Given the description of an element on the screen output the (x, y) to click on. 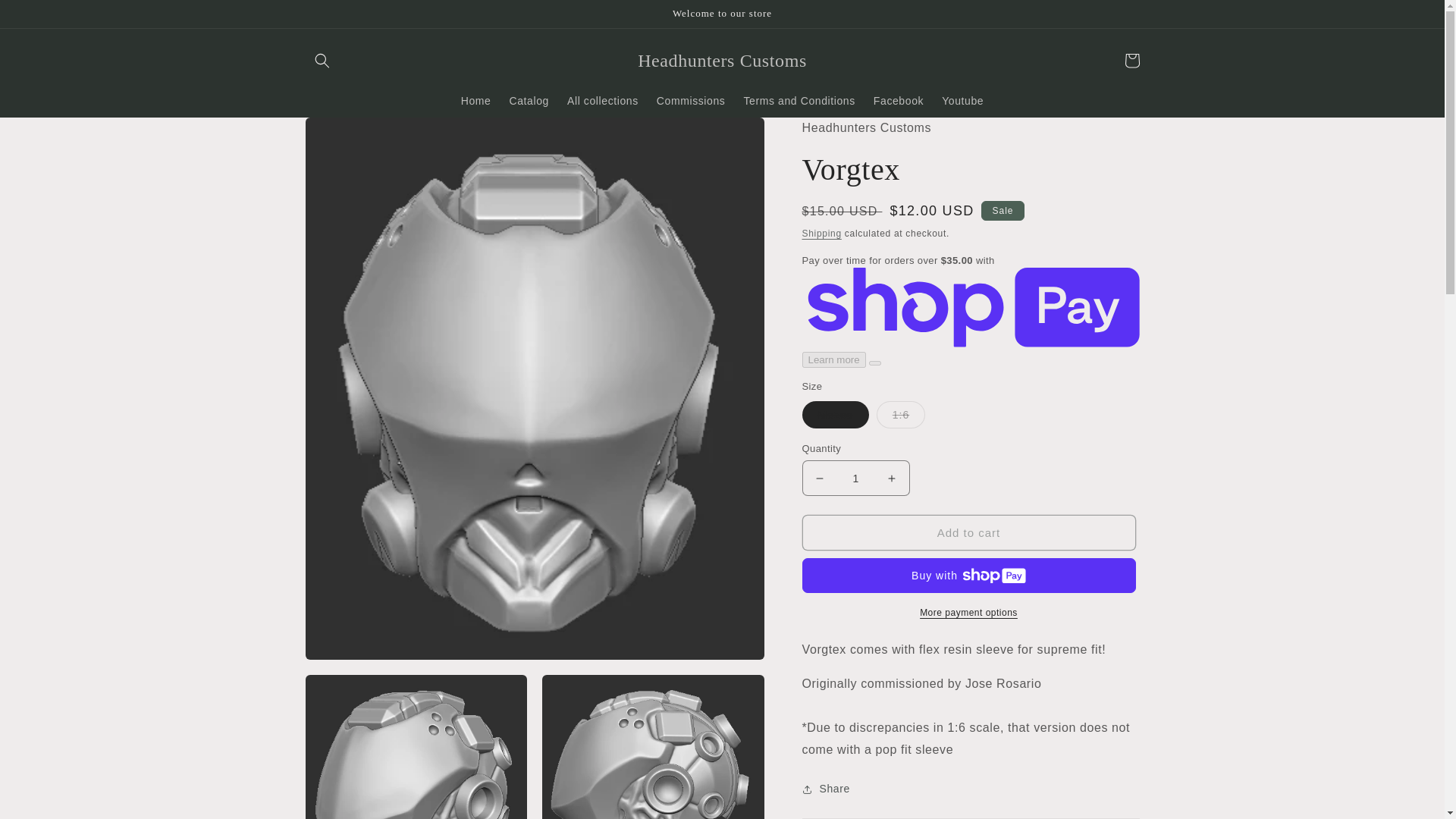
Skip to content (45, 17)
Terms and Conditions (798, 101)
Decrease quantity for Vorgtex (818, 478)
Commissions (691, 101)
Cart (1131, 60)
Youtube (962, 101)
Increase quantity for Vorgtex (891, 478)
More payment options (968, 612)
All collections (602, 101)
Facebook (898, 101)
1 (856, 478)
Skip to product information (350, 134)
Home (475, 101)
